Given the description of an element on the screen output the (x, y) to click on. 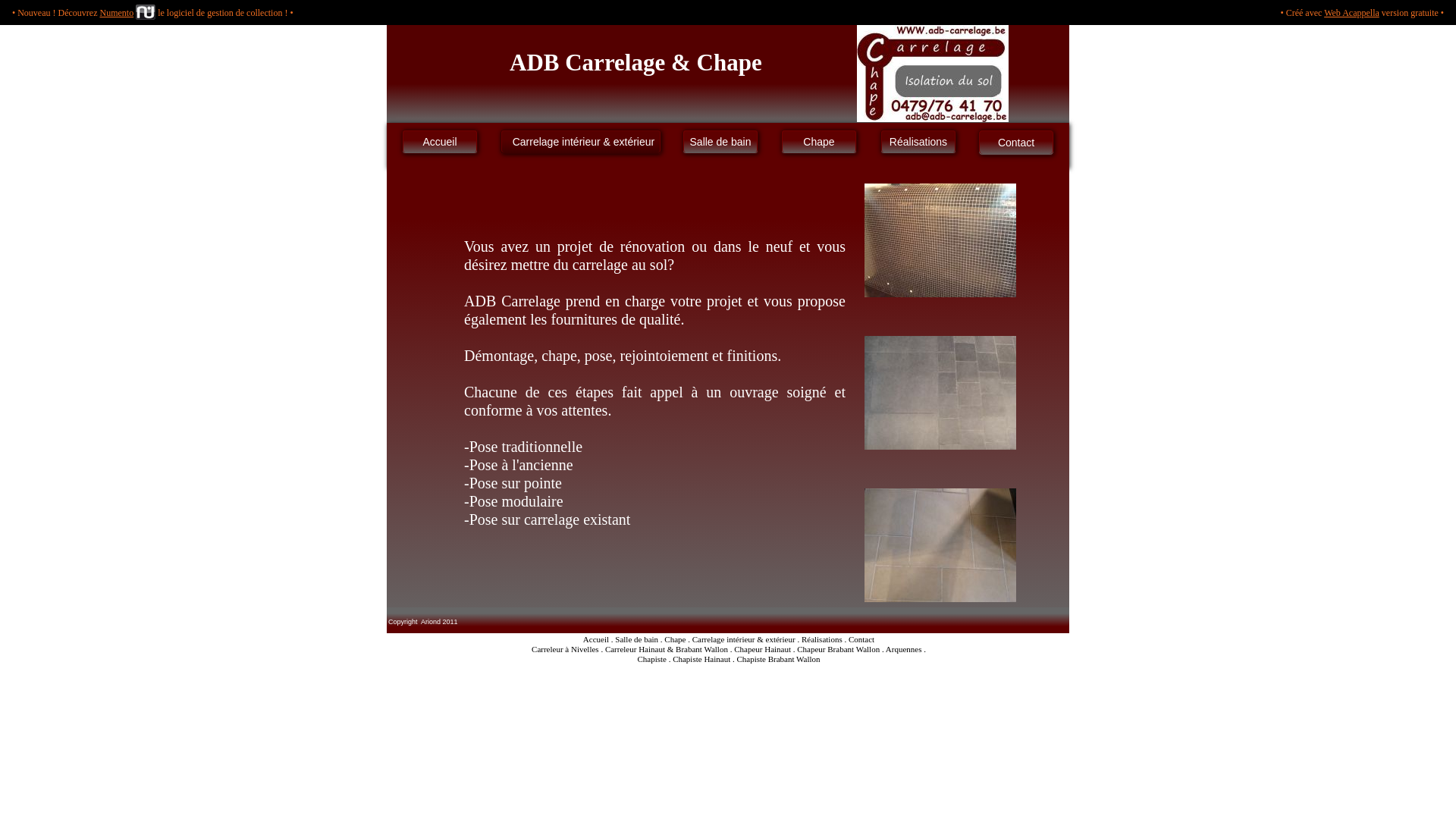
ntact Element type: text (866, 637)
Sa Element type: text (619, 637)
rreleur Hainaut & Brabant Wallon Element type: text (671, 647)
lle de bain Element type: text (640, 637)
Chapiste . Chapiste Hainaut . Chapiste Brabant Wallon Element type: text (728, 657)
Ch Element type: text (669, 637)
Ch Element type: text (738, 647)
  Element type: text (387, 659)
Ca Element type: text (609, 647)
Co Element type: text (853, 637)
Ca Element type: text (696, 637)
alisations Element type: text (826, 637)
ape Element type: text (679, 637)
  Element type: text (387, 30)
Salle de bain Element type: text (720, 141)
apeur Hainaut . Chapeur Brabant Wallon . Arquennes . Element type: text (834, 647)
Chape Element type: text (818, 141)
Contact Element type: text (1016, 142)
Accueil Element type: text (439, 141)
